Given the description of an element on the screen output the (x, y) to click on. 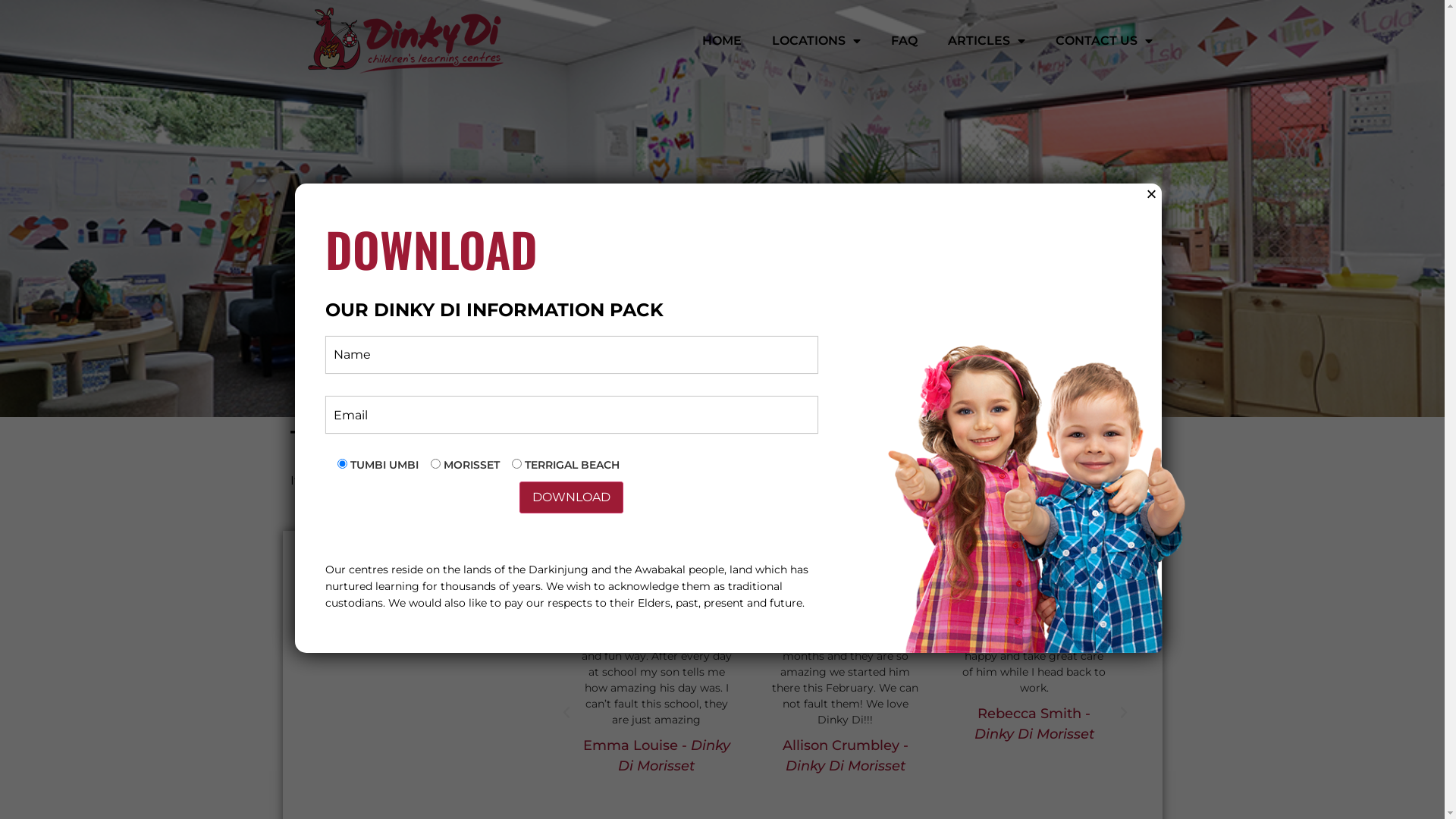
HOME Element type: text (721, 40)
LOCATIONS Element type: text (815, 40)
ARTICLES Element type: text (986, 40)
Download Element type: text (571, 497)
CONTACT US Element type: text (1103, 40)
FAQ Element type: text (903, 40)
